Given the description of an element on the screen output the (x, y) to click on. 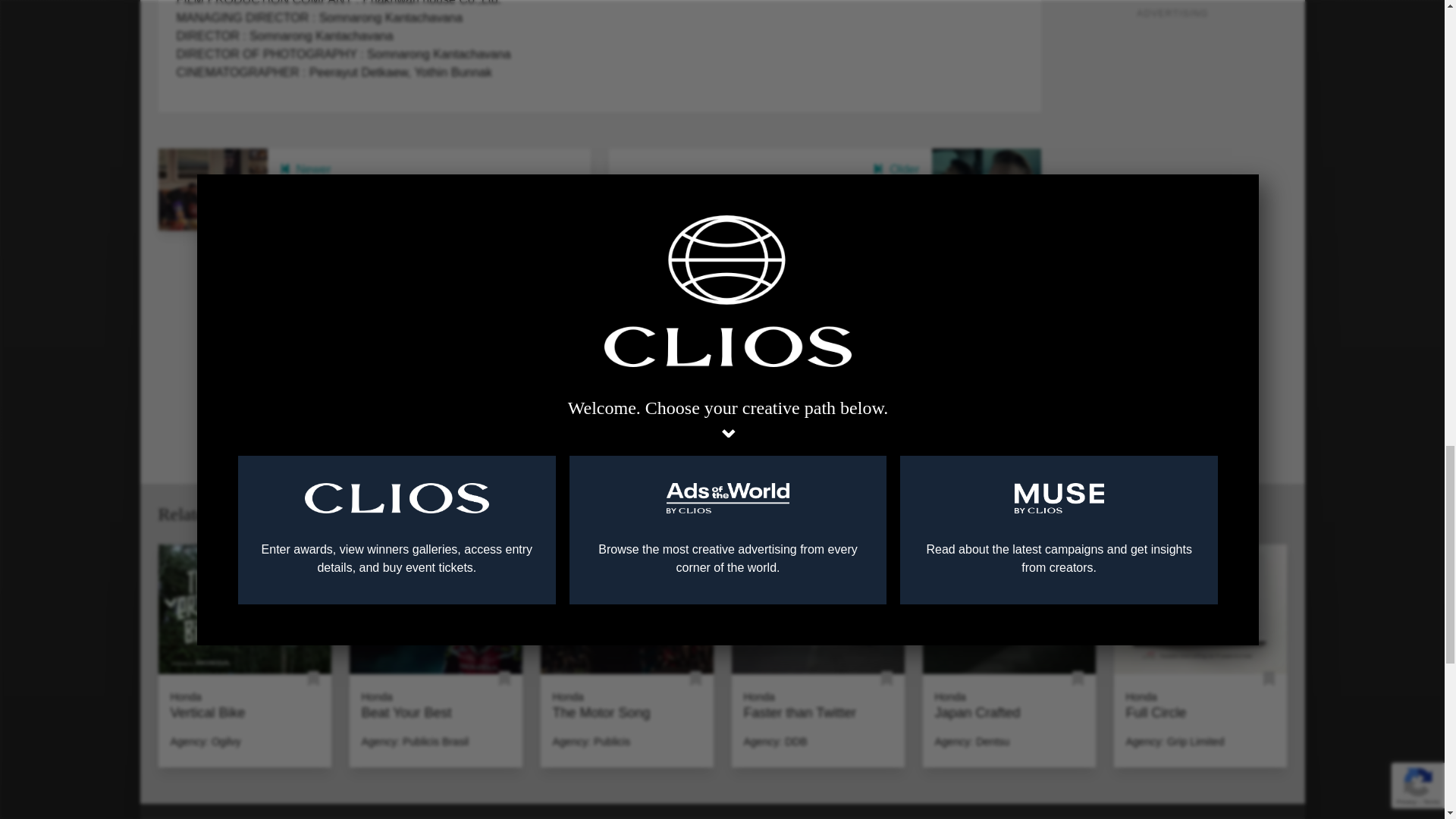
Login to Bookmark (312, 678)
Login to Bookmark (886, 678)
Login to Bookmark (1077, 678)
Login to Bookmark (505, 678)
Login to Bookmark (1269, 678)
Login to Bookmark (695, 678)
